Given the description of an element on the screen output the (x, y) to click on. 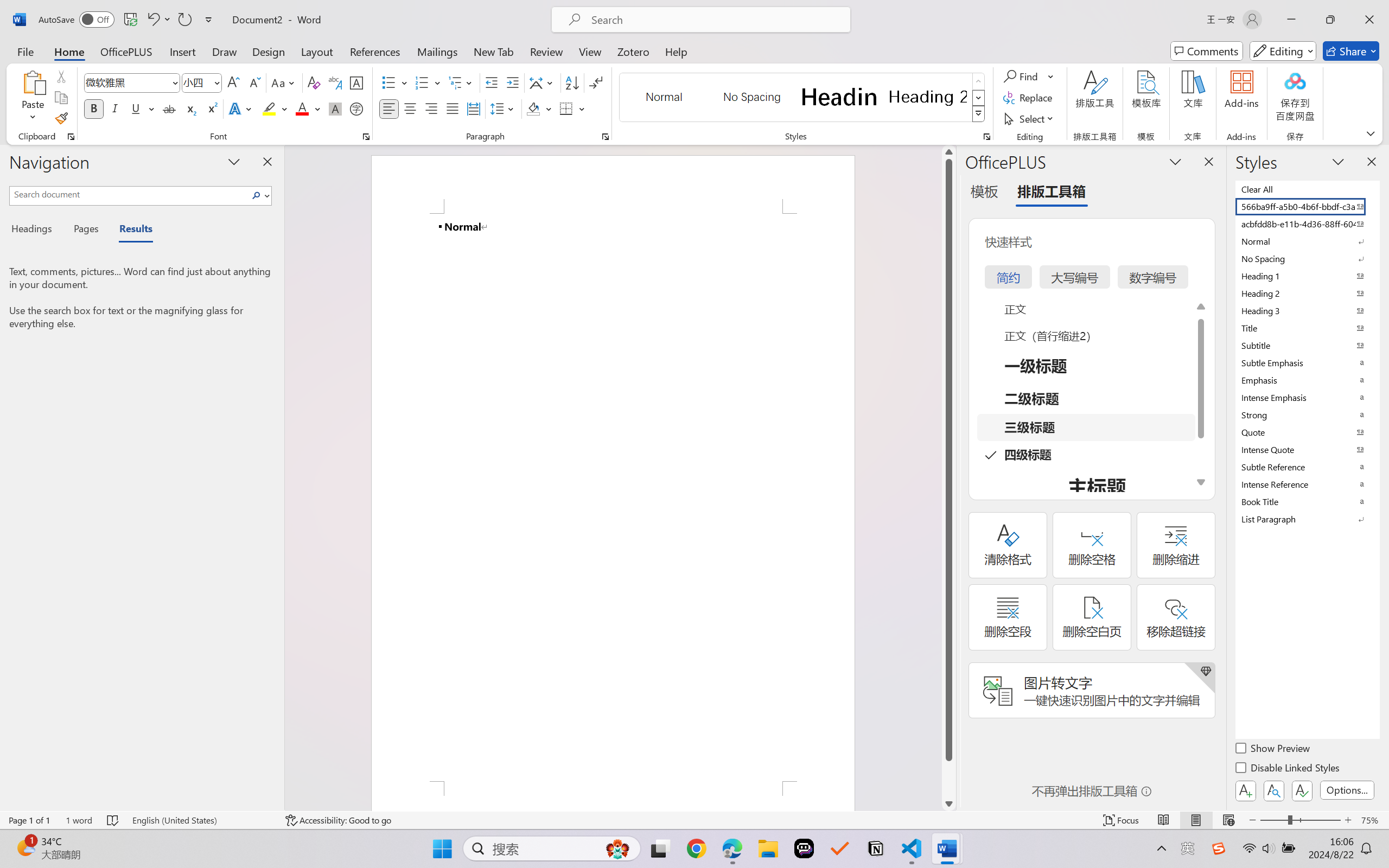
Zoom (1300, 819)
Ribbon Display Options (1370, 132)
Font Color Red (302, 108)
Align Right (431, 108)
AutomationID: BadgeAnchorLargeTicker (24, 847)
Font... (365, 136)
Share (1350, 51)
Search document (128, 193)
Font Size (196, 82)
Subtitle (1306, 345)
Paste (33, 97)
Italic (115, 108)
Character Shading (334, 108)
